Given the description of an element on the screen output the (x, y) to click on. 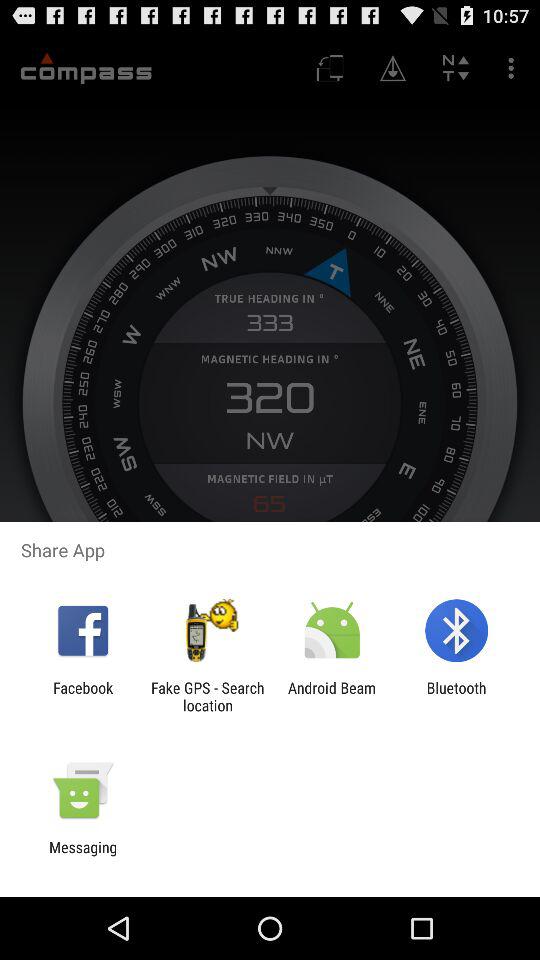
jump until the fake gps search icon (207, 696)
